Given the description of an element on the screen output the (x, y) to click on. 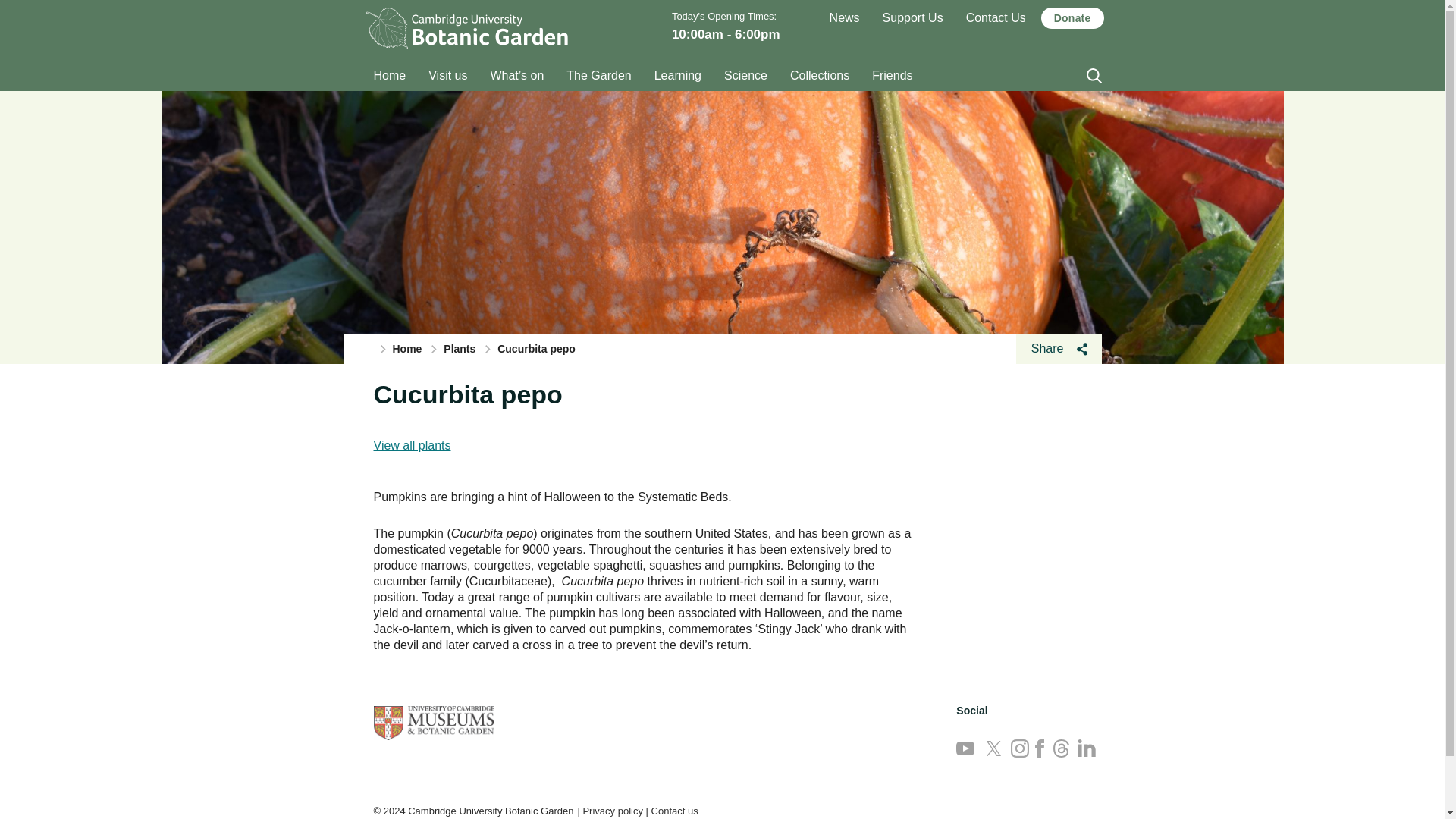
Permanent link: Cucurbita pepo (467, 394)
